Given the description of an element on the screen output the (x, y) to click on. 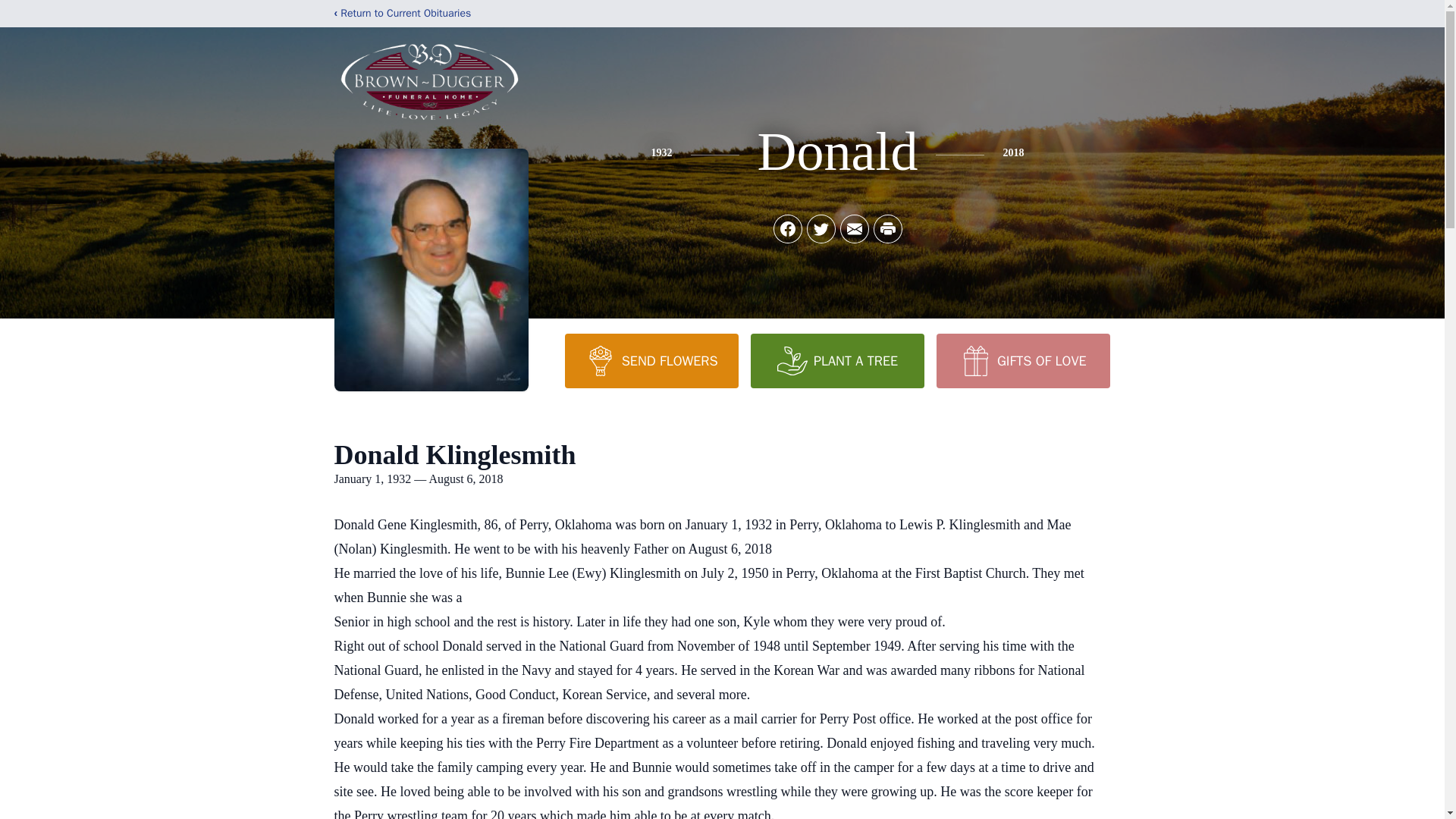
GIFTS OF LOVE (1022, 360)
PLANT A TREE (837, 360)
SEND FLOWERS (651, 360)
